Given the description of an element on the screen output the (x, y) to click on. 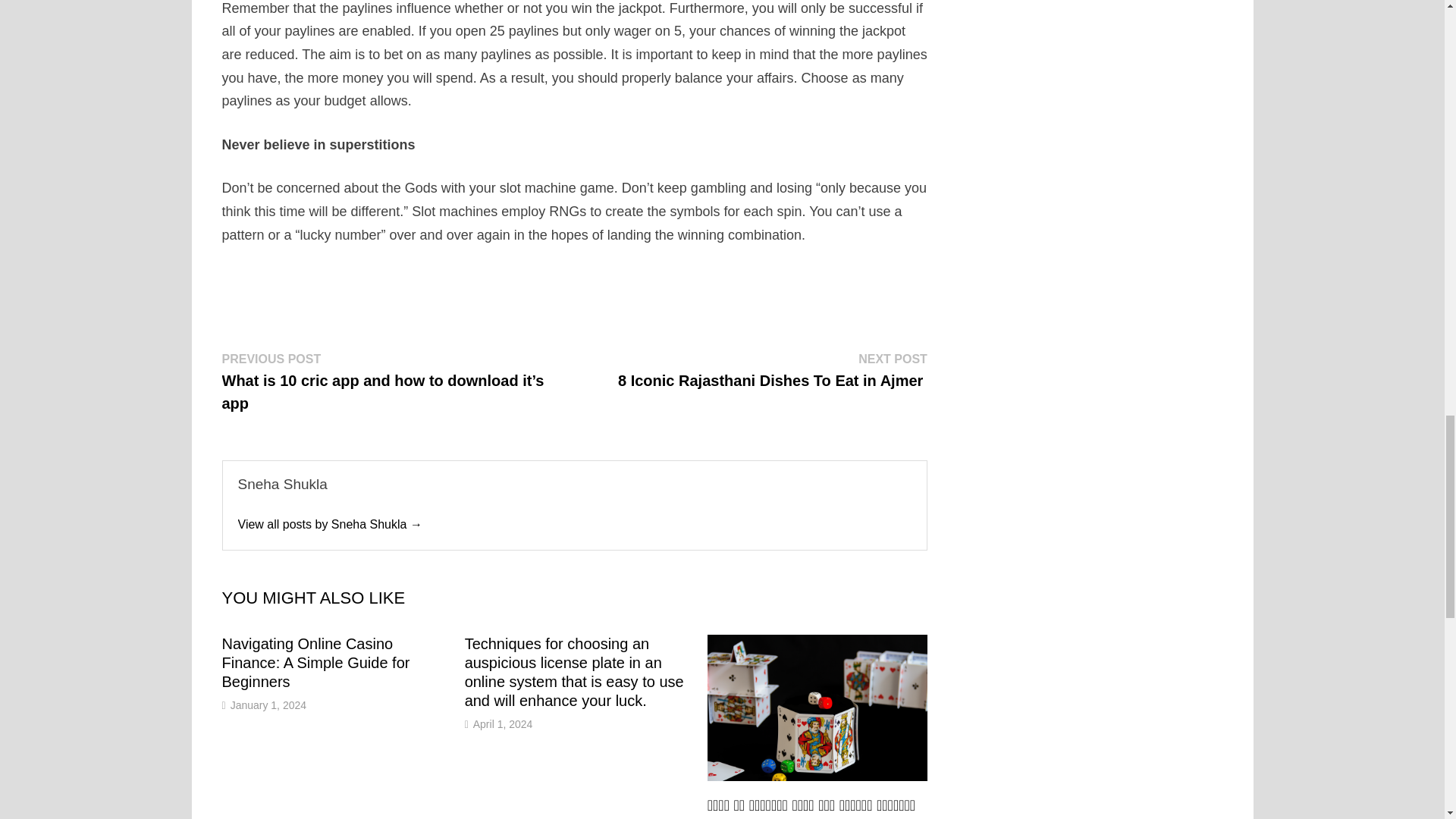
Sneha Shukla (330, 522)
